Given the description of an element on the screen output the (x, y) to click on. 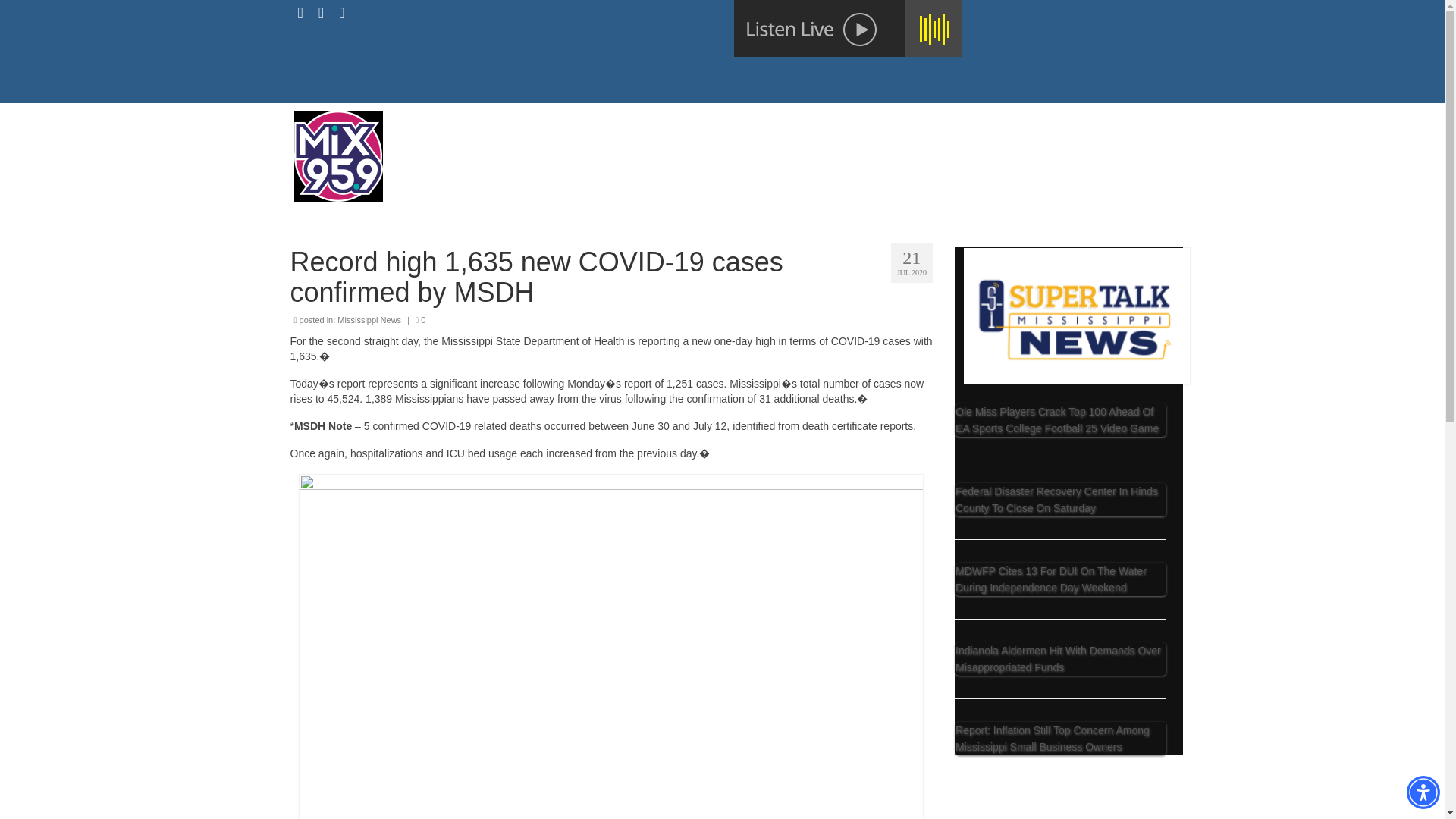
Accessibility Menu (1422, 792)
Listen Live (846, 28)
Mississippi News (369, 319)
HOME (612, 148)
ON-AIR (669, 148)
CONTACT (738, 148)
